Given the description of an element on the screen output the (x, y) to click on. 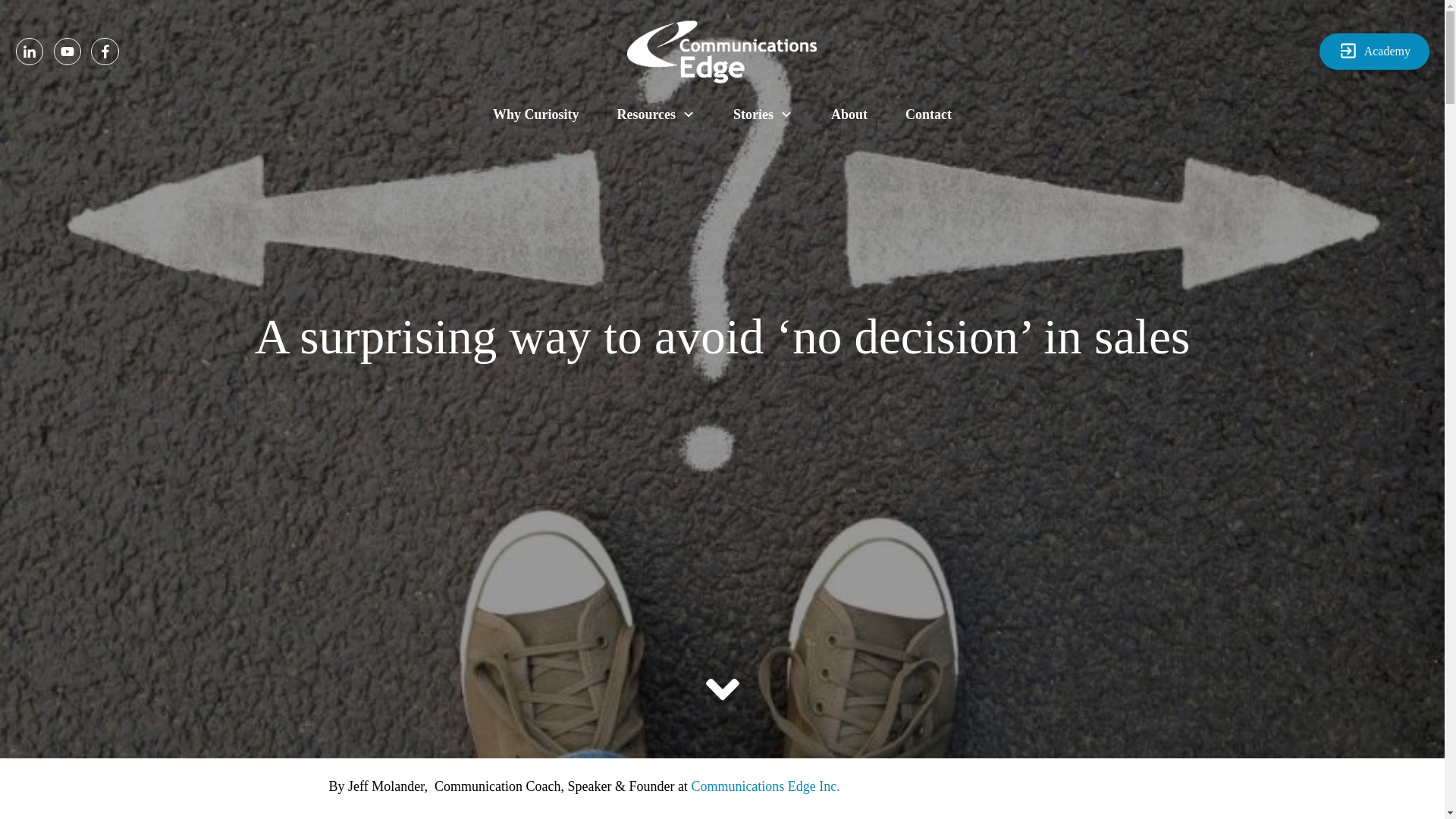
Contact (928, 113)
Academy (1374, 51)
Resources (655, 113)
Stories (763, 113)
Why Curiosity (536, 113)
About (849, 113)
Communications Edge Inc. (765, 786)
